Given the description of an element on the screen output the (x, y) to click on. 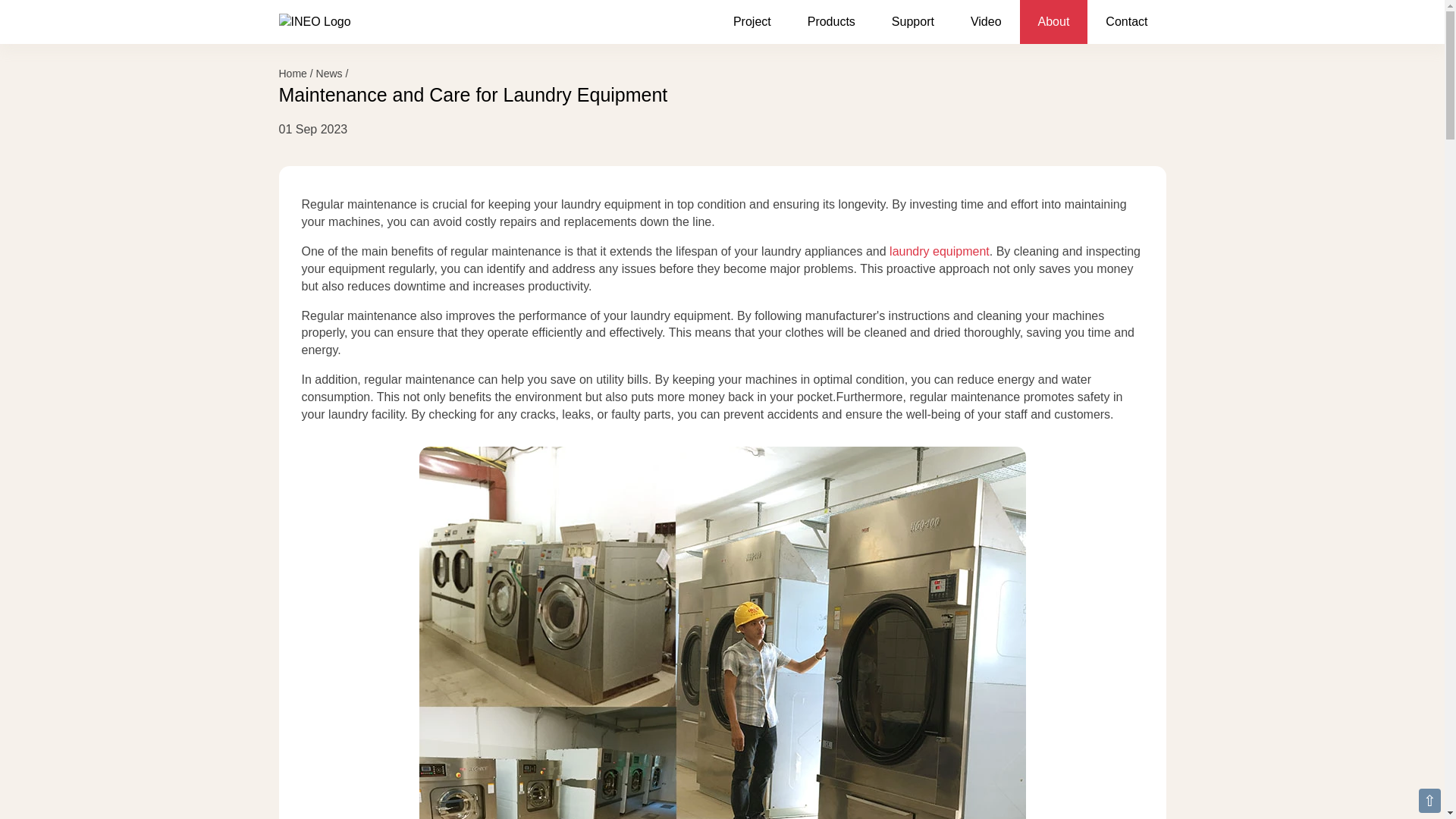
About (1053, 22)
laundry equipment (939, 250)
Support (912, 22)
Contact (1126, 22)
Video (986, 22)
Home (293, 73)
News (328, 73)
Products (831, 22)
Project (751, 22)
